Given the description of an element on the screen output the (x, y) to click on. 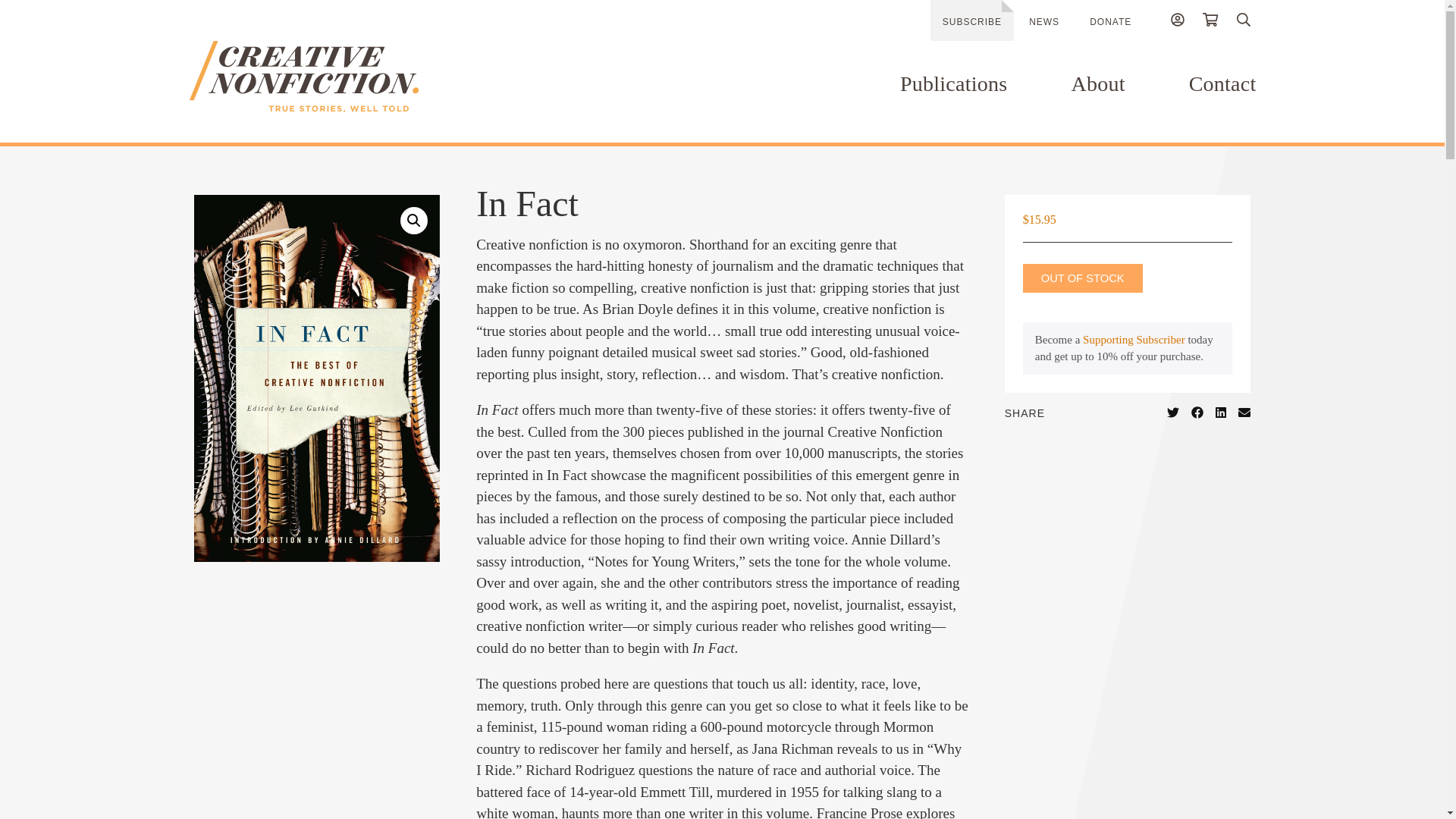
Contact (1222, 83)
Share Via Email (1244, 412)
Share Via Twitter (1173, 412)
Share Via Twitter (1173, 412)
NEWS (1044, 21)
Share Via Email (1244, 412)
SUBSCRIBE (971, 20)
Publications (953, 83)
DONATE (1110, 21)
Share Via Facebook (1197, 412)
